Given the description of an element on the screen output the (x, y) to click on. 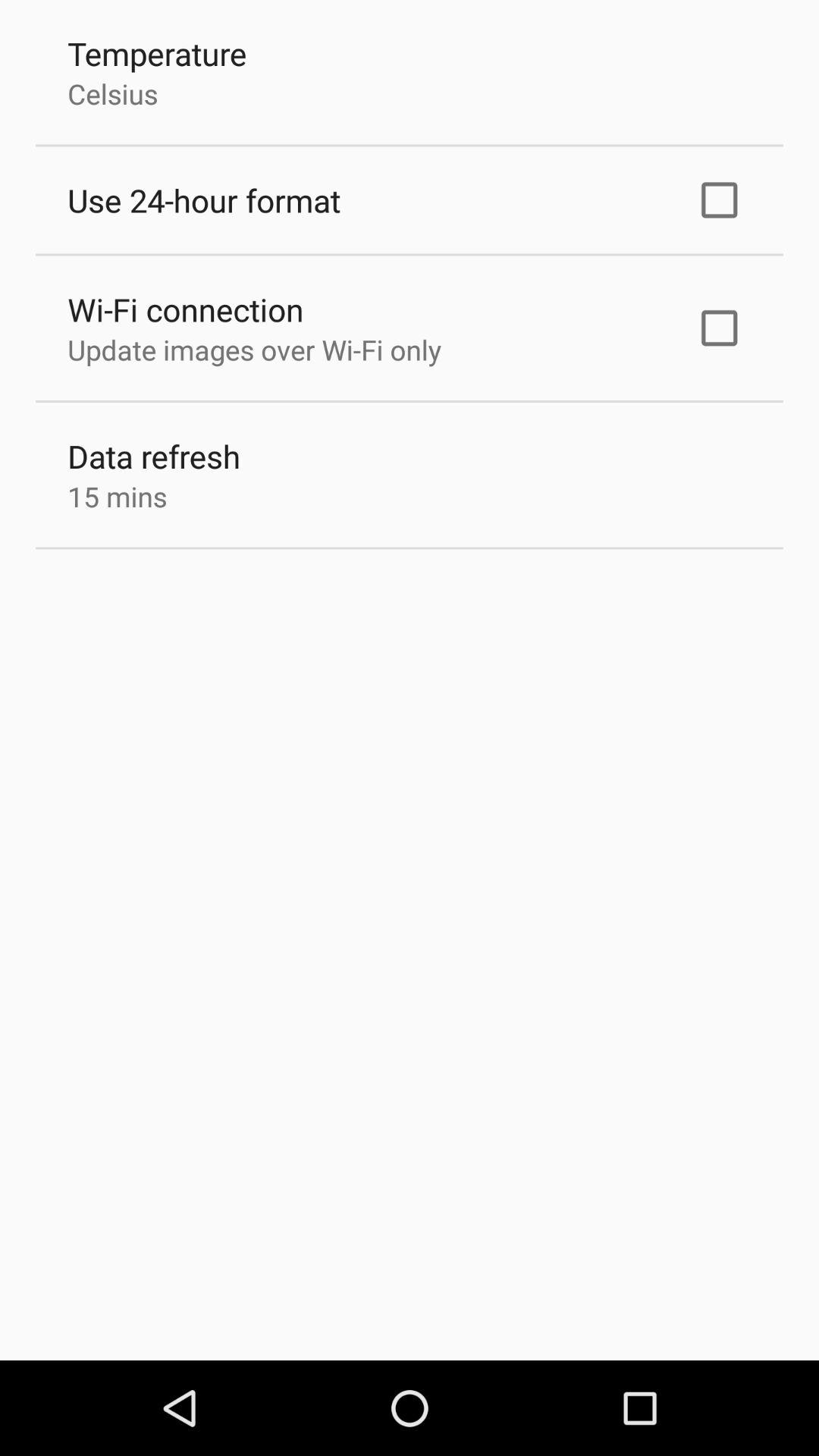
launch app above the data refresh app (254, 349)
